Given the description of an element on the screen output the (x, y) to click on. 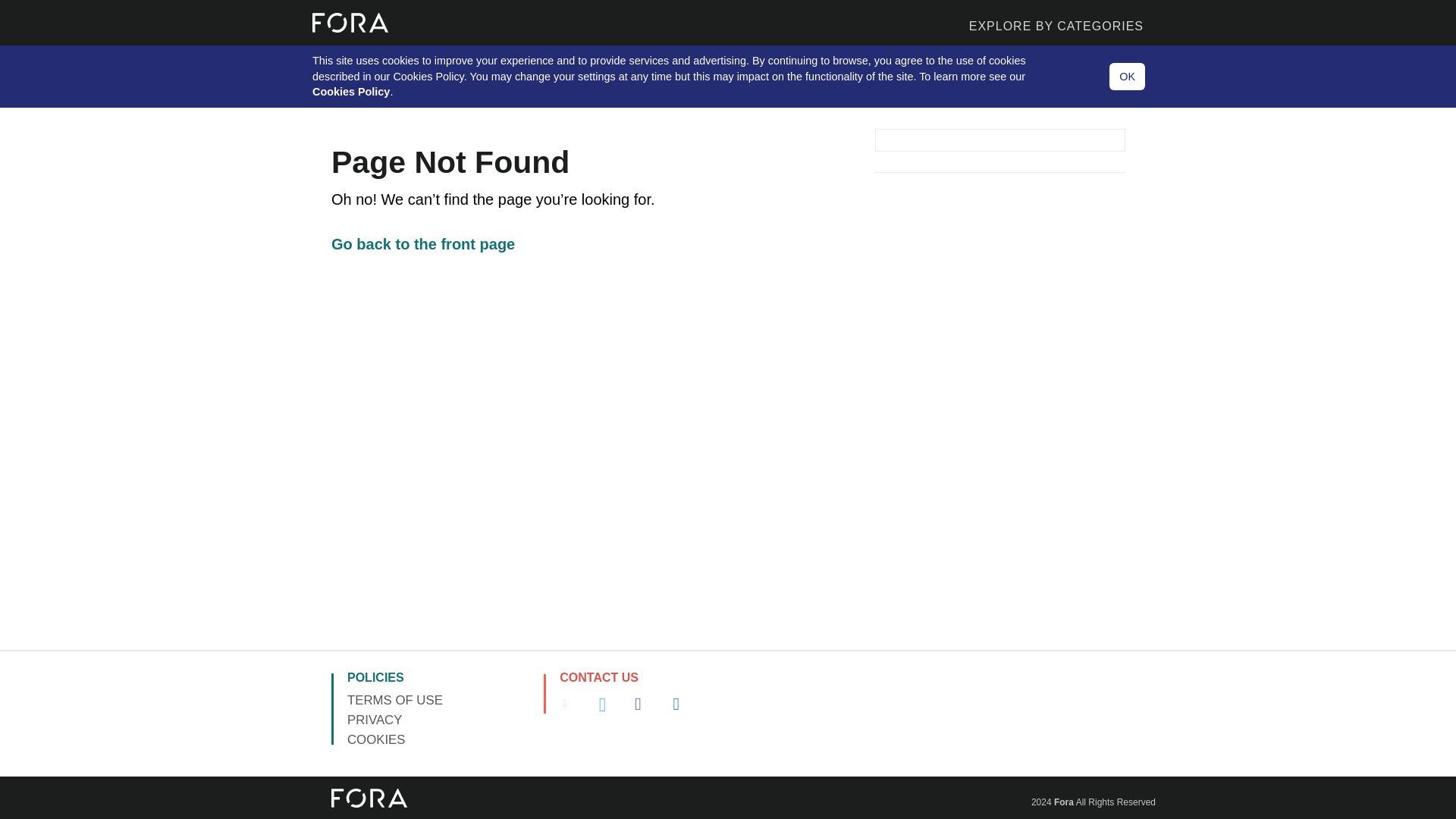
COOKIES (375, 739)
PRIVACY (374, 719)
Cookies Policy (351, 91)
EXPLORE BY CATEGORIES (878, 22)
EXPLORE BY CATEGORIES (1055, 22)
OK (1126, 76)
Fora (1064, 801)
TERMS OF USE (394, 699)
Go back to the front page (423, 243)
